Given the description of an element on the screen output the (x, y) to click on. 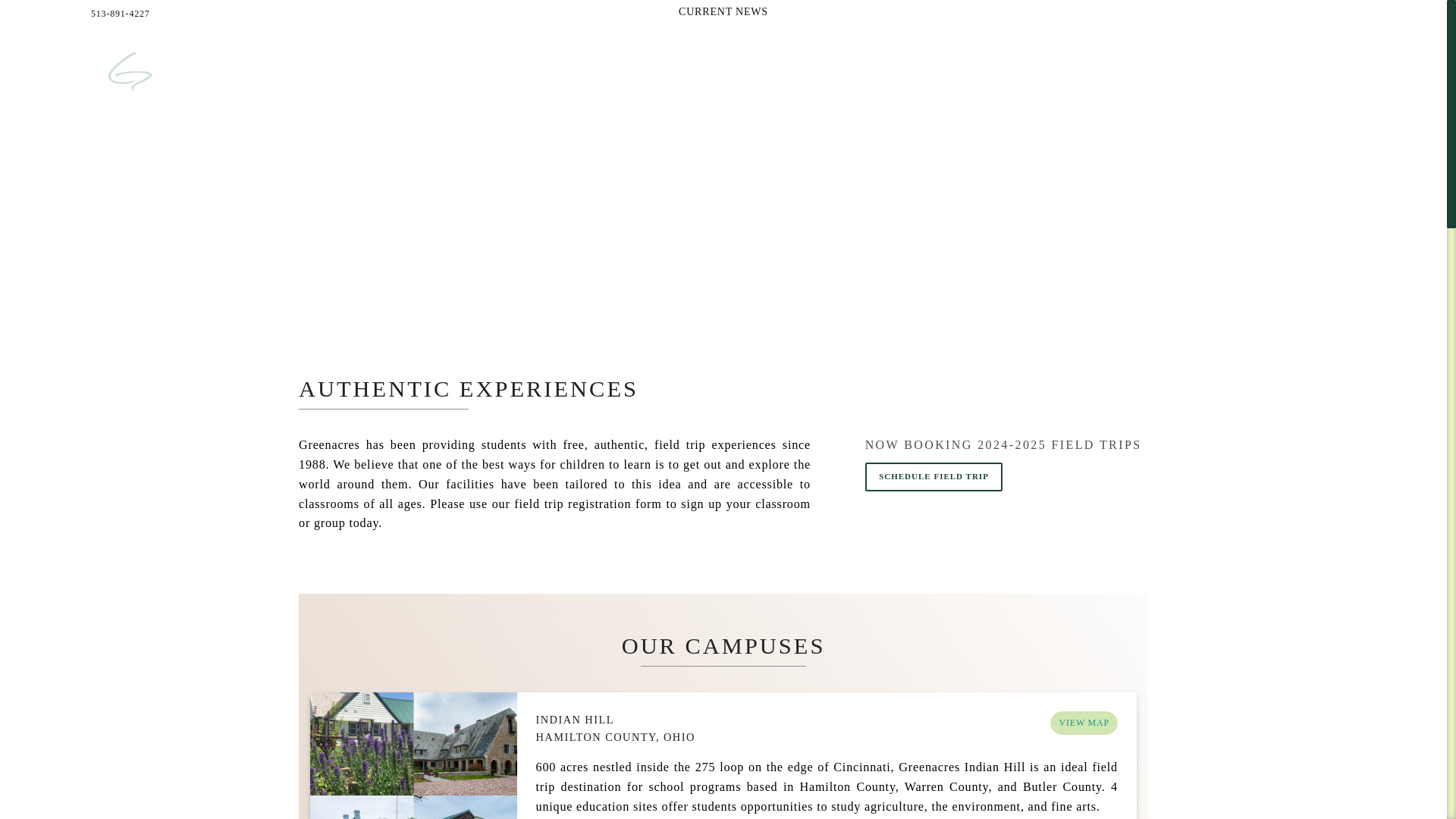
ih-placeholder (413, 755)
